Given the description of an element on the screen output the (x, y) to click on. 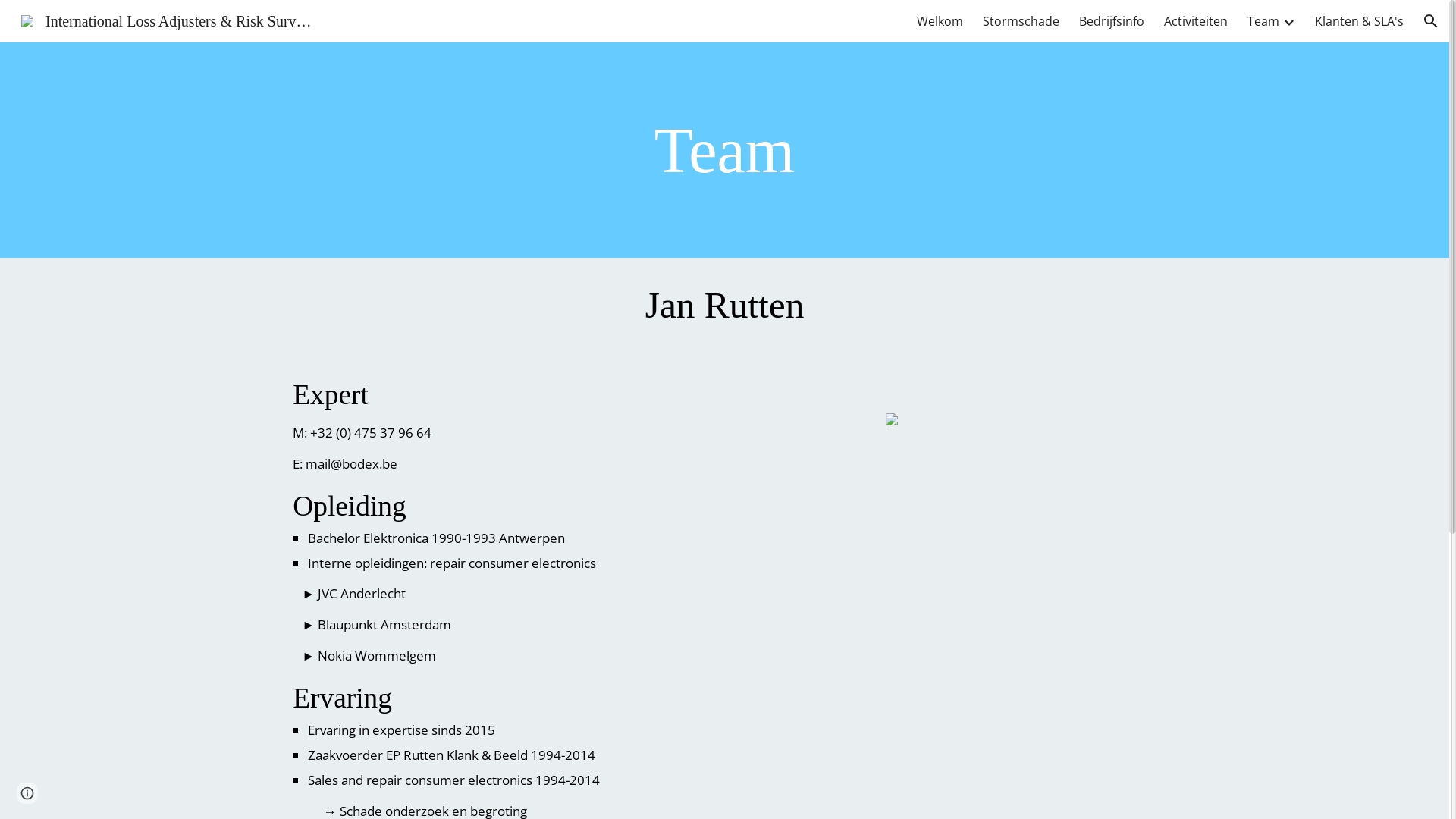
Welkom Element type: text (939, 20)
Stormschade Element type: text (1020, 20)
Bedrijfsinfo Element type: text (1111, 20)
Klanten & SLA's Element type: text (1358, 20)
Team Element type: text (1263, 20)
International Loss Adjusters & Risk Surveyors Element type: text (168, 19)
Expand/Collapse Element type: hover (1288, 20)
Activiteiten Element type: text (1195, 20)
